Given the description of an element on the screen output the (x, y) to click on. 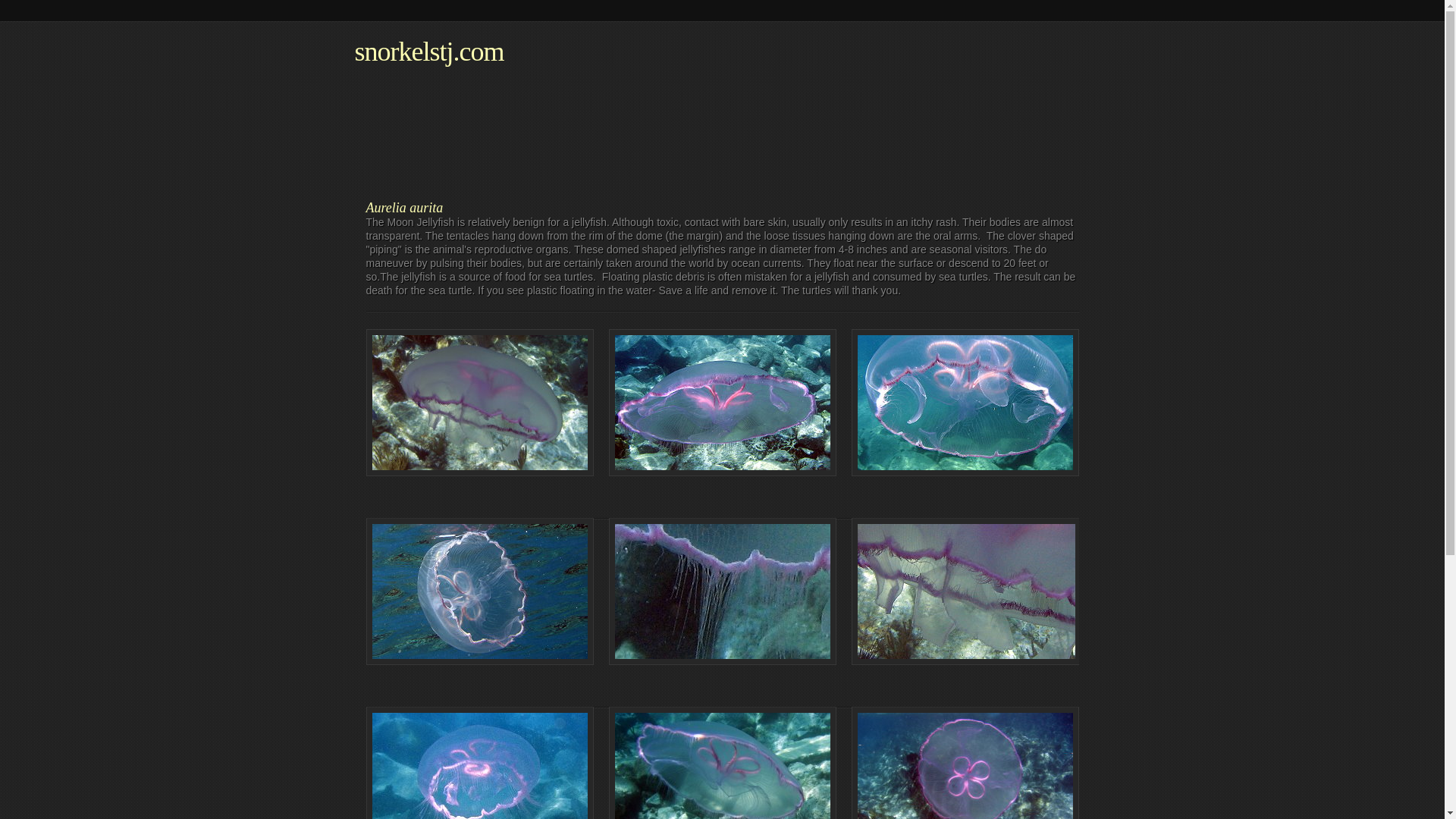
snorkelstj.com (429, 51)
